Given the description of an element on the screen output the (x, y) to click on. 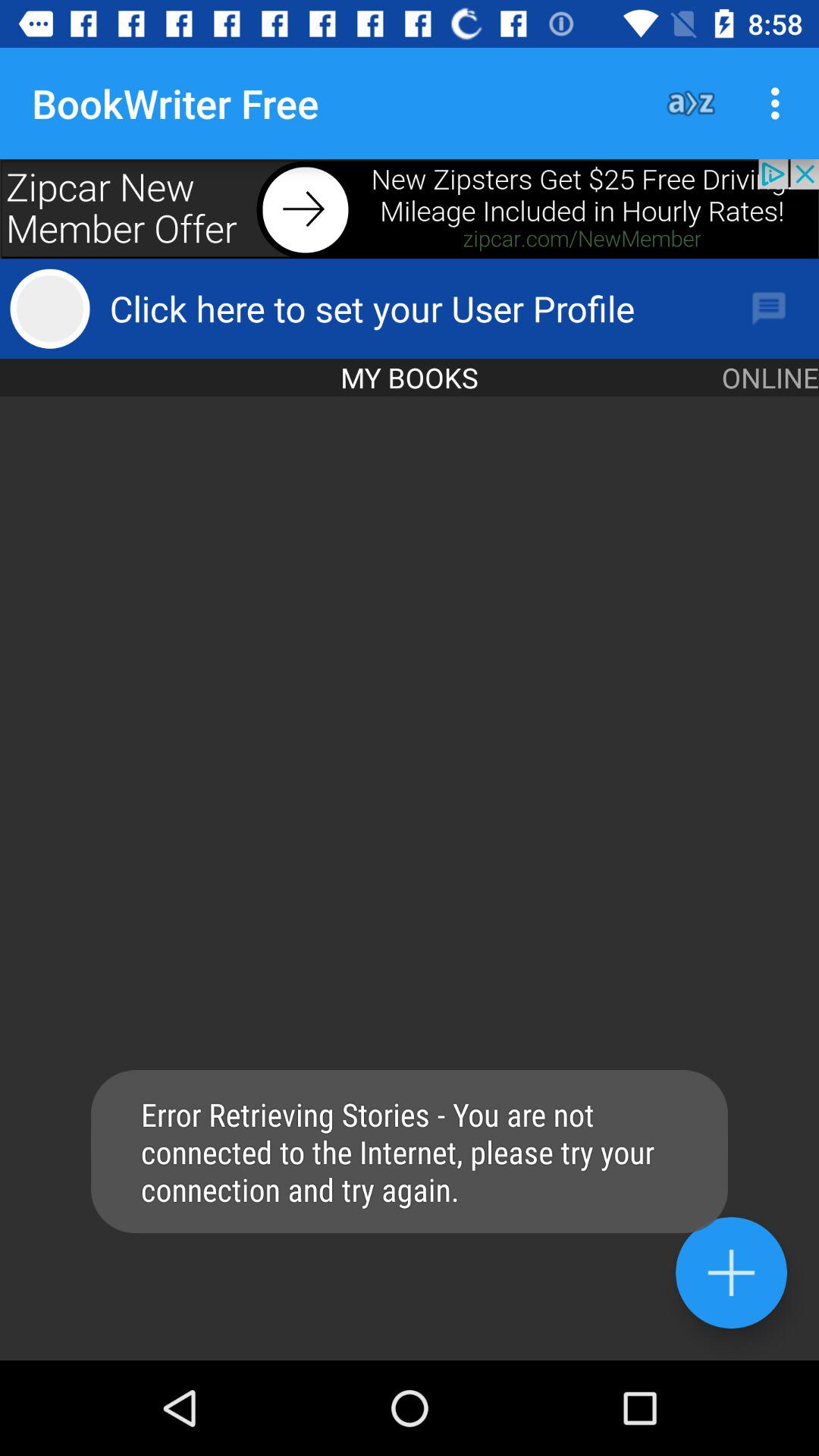
app advertisement (409, 208)
